Given the description of an element on the screen output the (x, y) to click on. 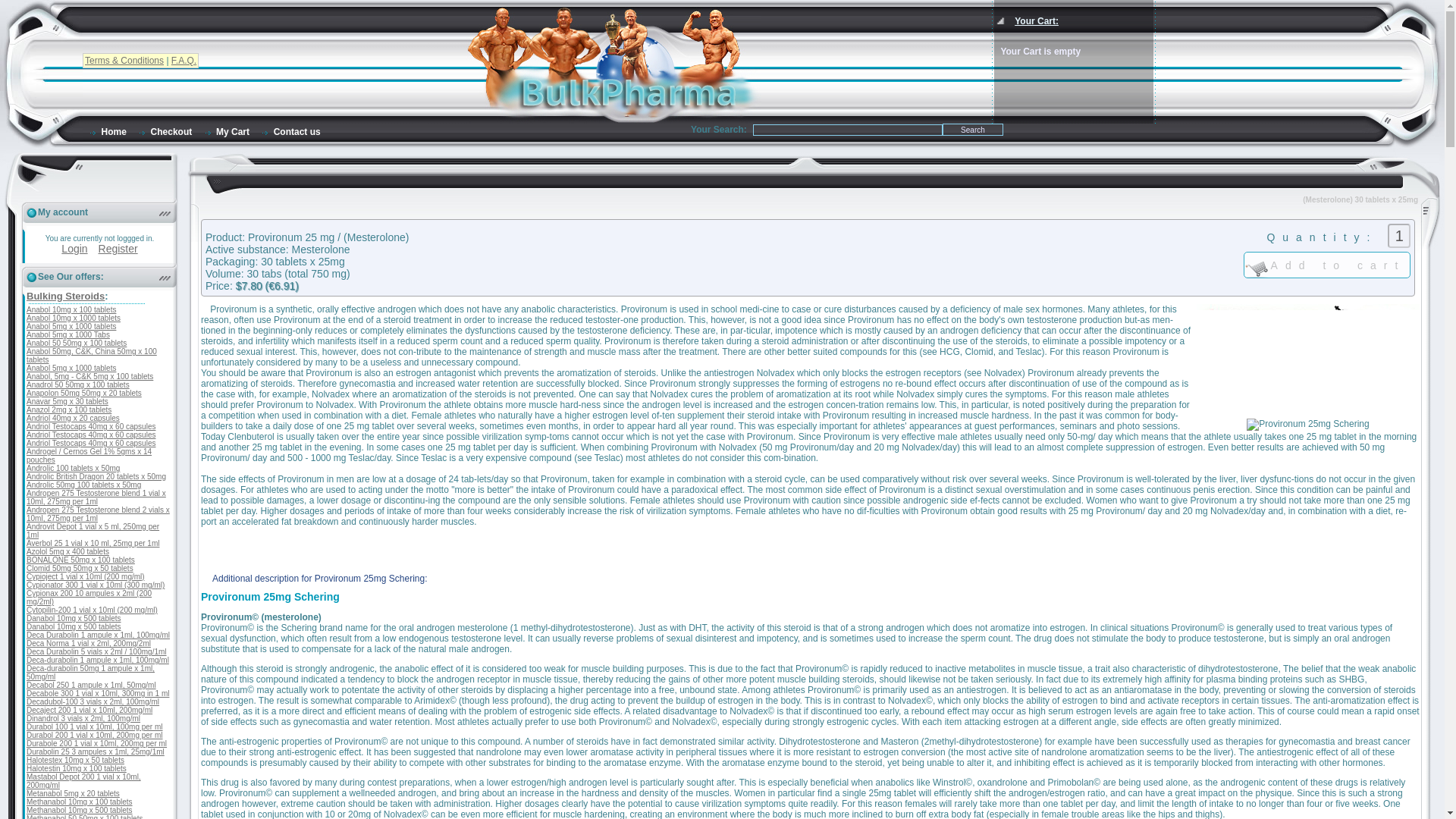
Andriol 40mg x 20 capsules (72, 418)
Androvit Depot 1 vial x 5 ml, 250mg per 1ml (92, 530)
Anabol 5mg x 1000 tablets (71, 367)
Azolol 5mg x 400 tablets (67, 551)
Anapolon 50mg 50mg x 20 tablets (83, 393)
My Cart (225, 131)
Anabol 5mg x 1000 tablets (71, 326)
Anadrol 50 50mg x 100 tablets (77, 384)
Your Cart: (1036, 20)
Anabol 10mg x 1000 tablets (73, 317)
